Given the description of an element on the screen output the (x, y) to click on. 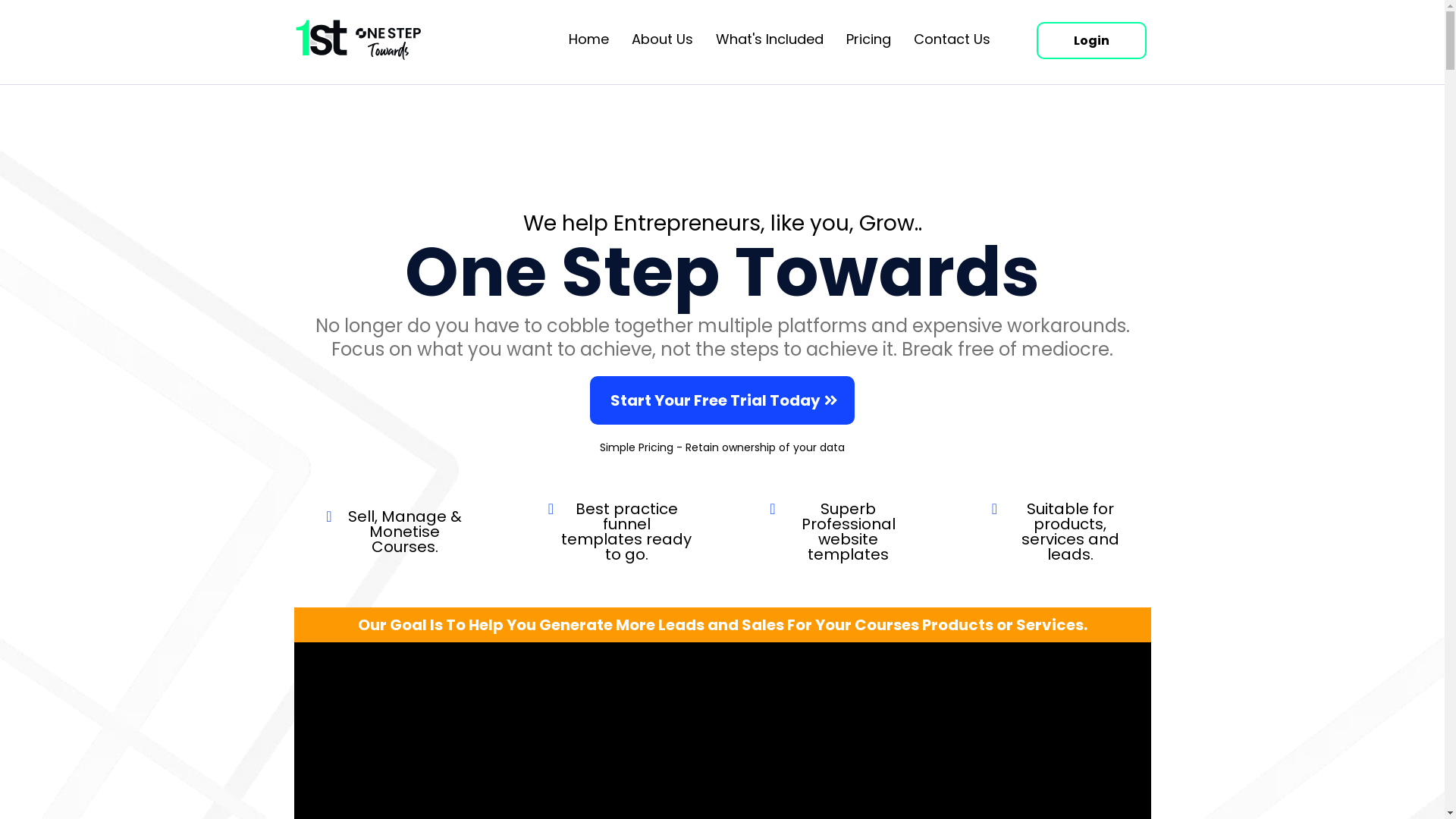
About Us Element type: text (662, 39)
What's Included Element type: text (769, 39)
Home Element type: text (588, 39)
Start Your Free Trial Today Element type: text (721, 400)
Contact Us Element type: text (951, 39)
Pricing Element type: text (868, 39)
Login Element type: text (1091, 40)
